Given the description of an element on the screen output the (x, y) to click on. 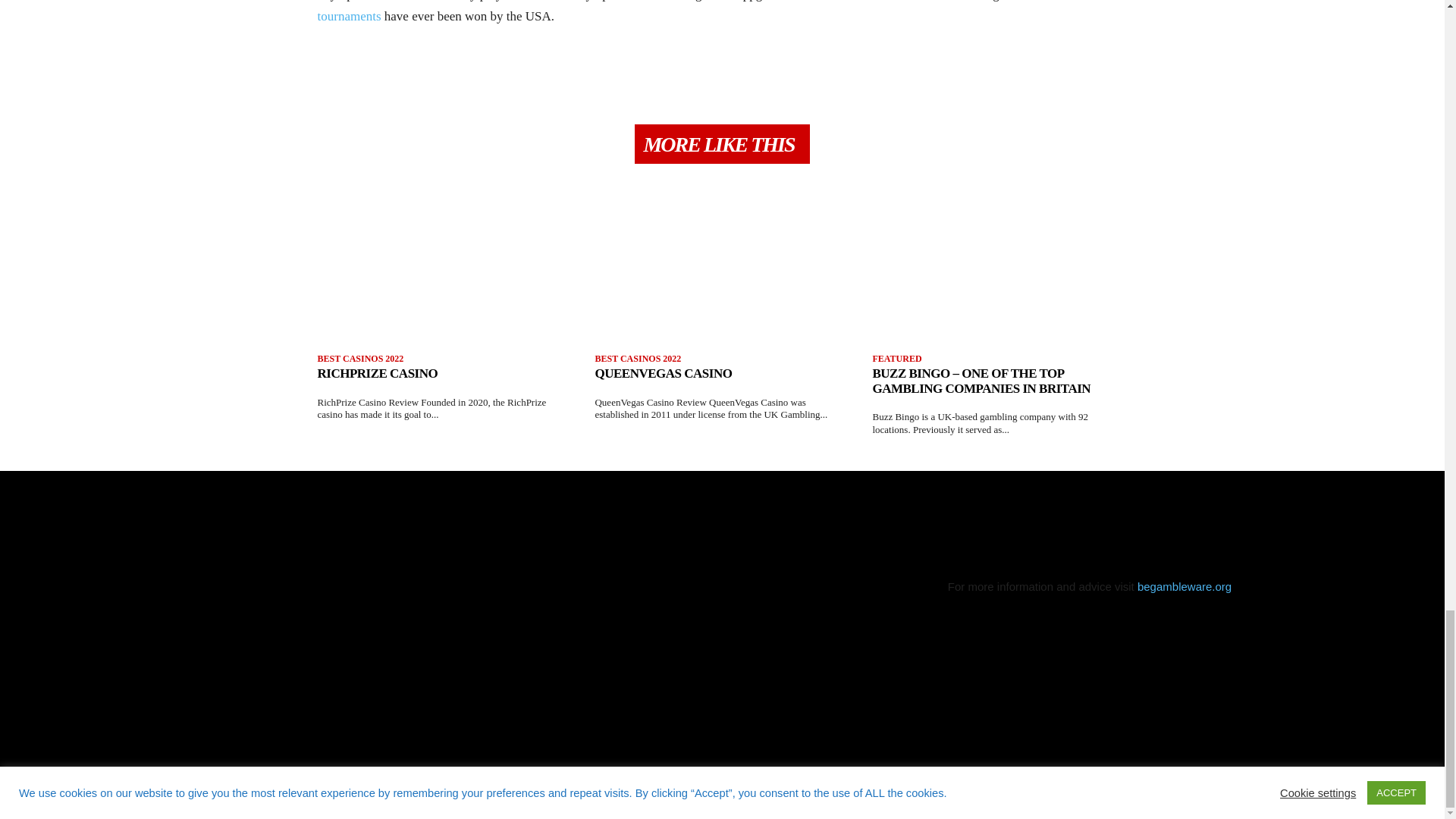
RichPrize Casino (377, 373)
QueenVegas Casino (721, 282)
QueenVegas Casino (663, 373)
RichPrize Casino (444, 282)
